Given the description of an element on the screen output the (x, y) to click on. 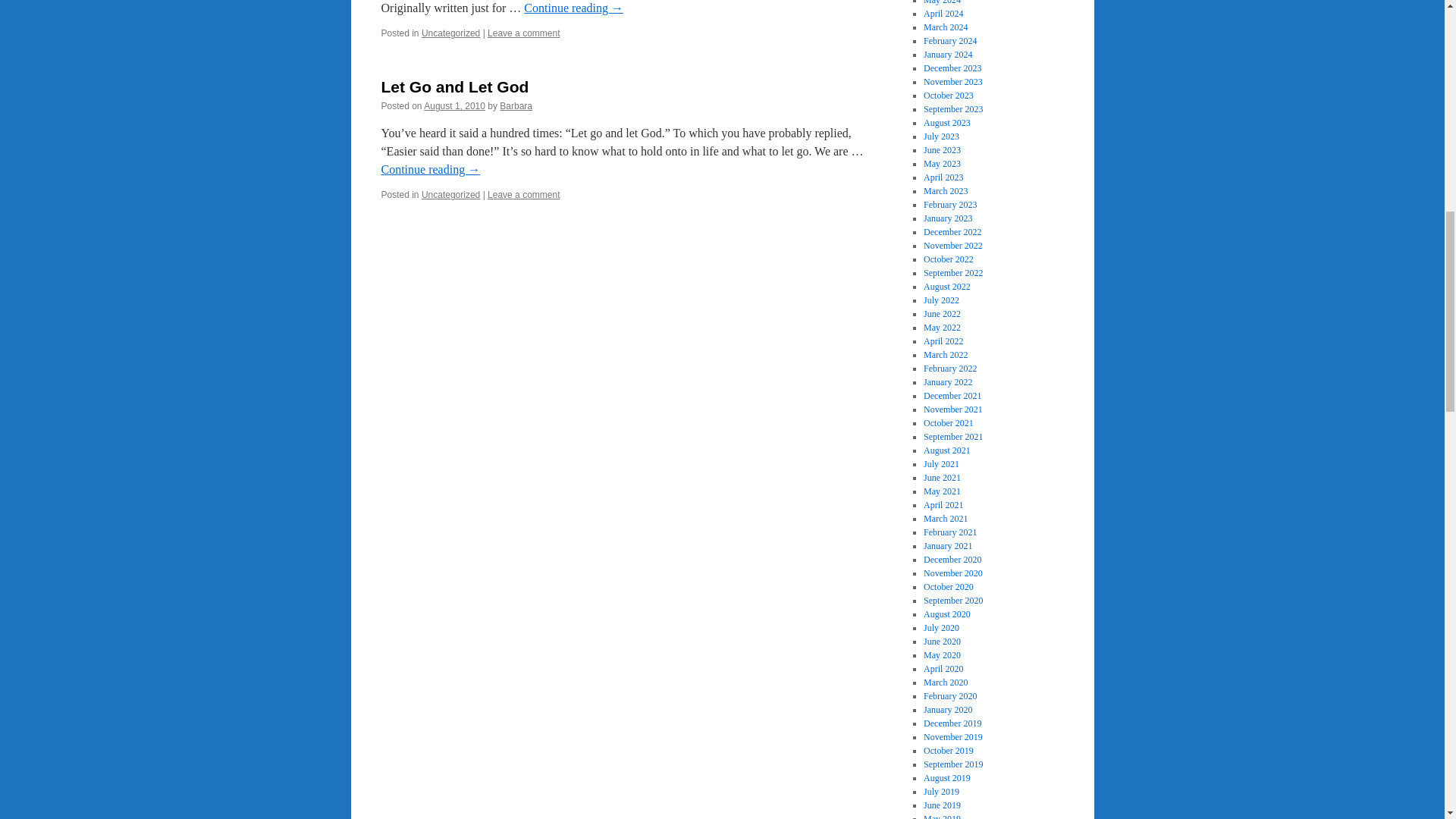
Let Go and Let God (454, 86)
Uncategorized (451, 194)
Leave a comment (523, 194)
August 1, 2010 (453, 105)
Barbara (515, 105)
Leave a comment (523, 32)
View all posts by Barbara (515, 105)
9:47 pm (453, 105)
Uncategorized (451, 32)
